Given the description of an element on the screen output the (x, y) to click on. 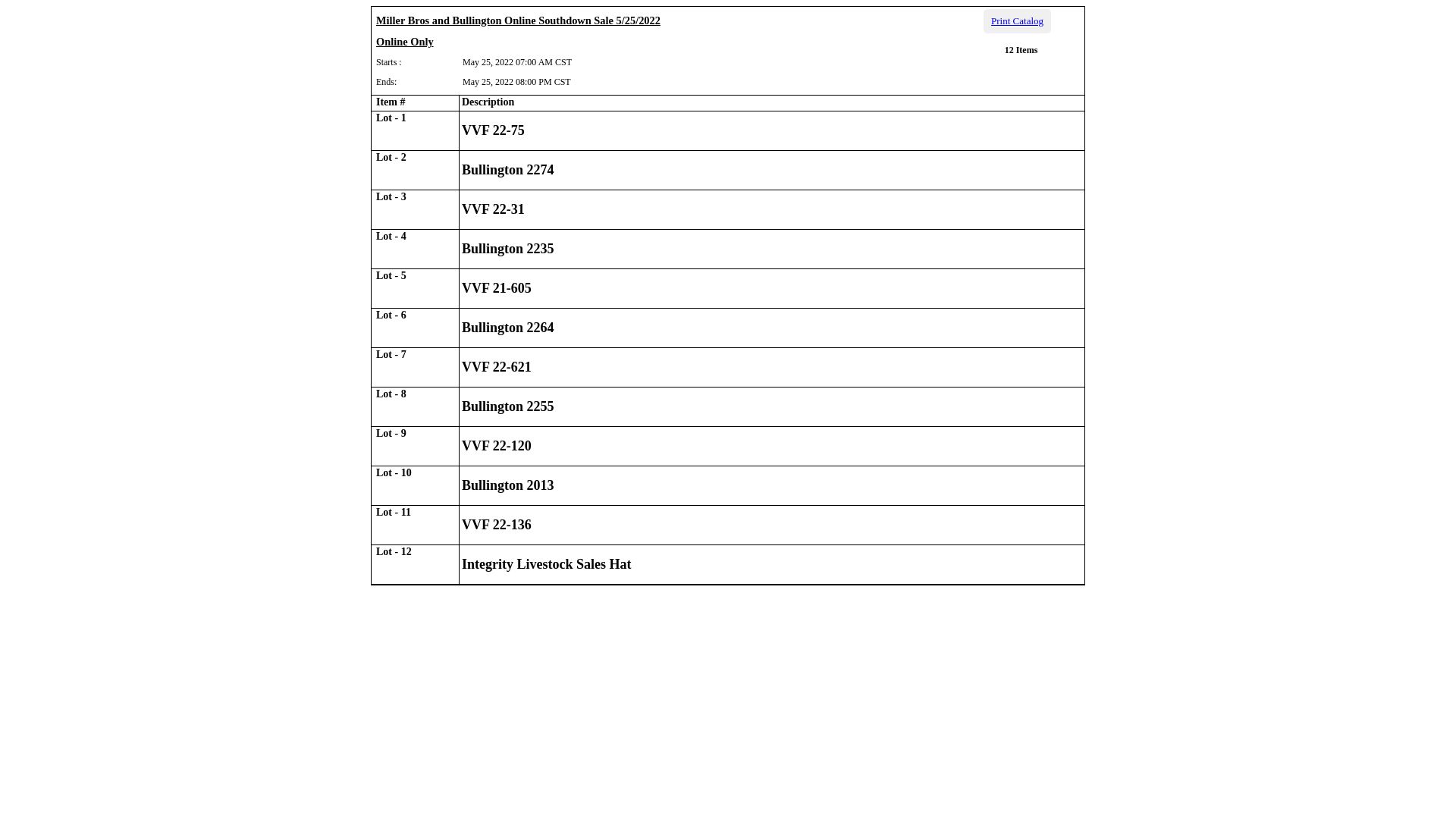
Print Catalog Element type: text (1017, 21)
